Given the description of an element on the screen output the (x, y) to click on. 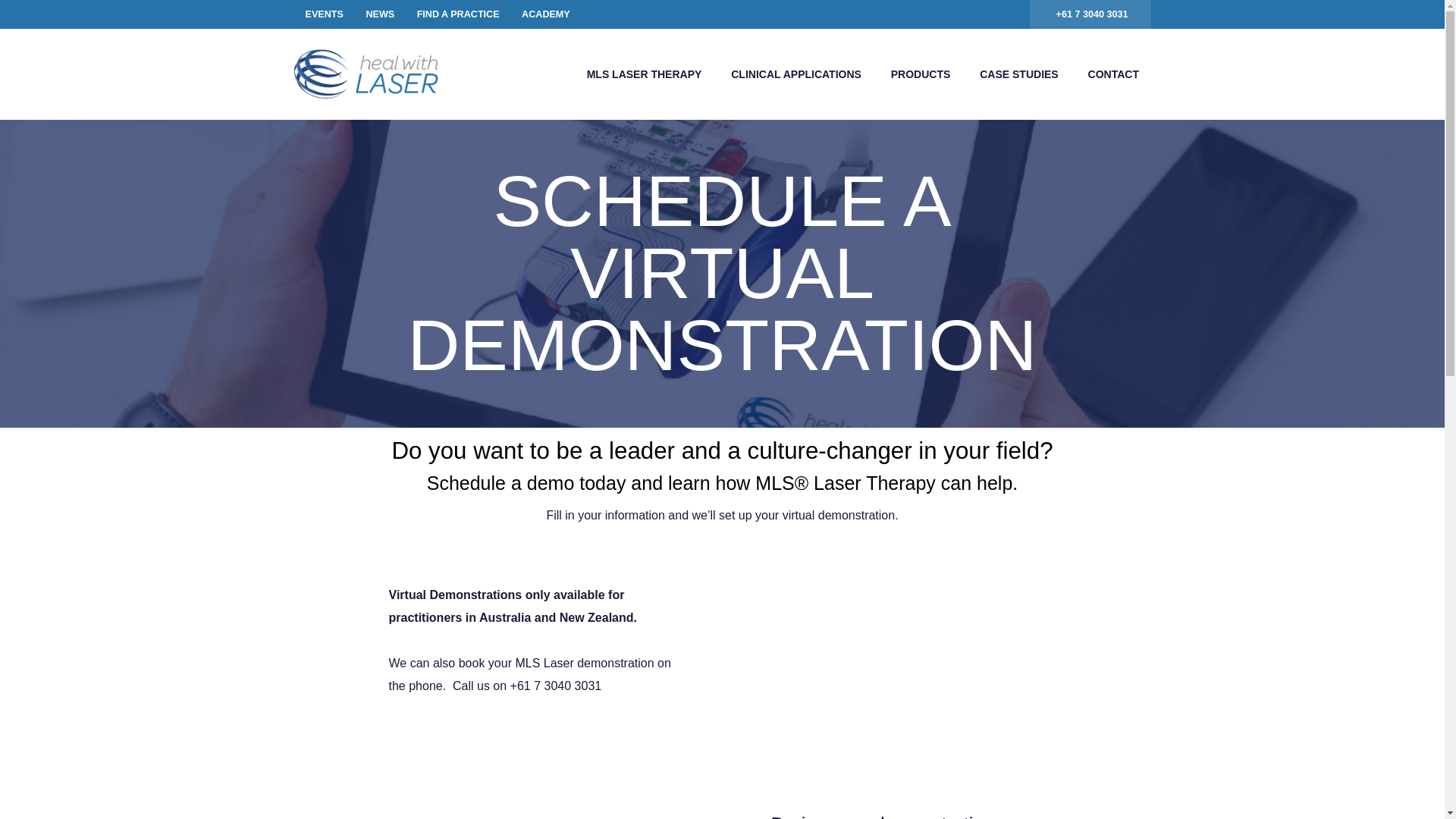
CASE STUDIES Element type: text (1019, 73)
+61 7 3040 3031 Element type: text (1090, 14)
PRODUCTS Element type: text (920, 73)
EVENTS Element type: text (324, 14)
ACADEMY Element type: text (545, 14)
NEWS Element type: text (379, 14)
CONTACT Element type: text (1113, 73)
MLS LASER THERAPY Element type: text (643, 73)
CLINICAL APPLICATIONS Element type: text (796, 73)
FIND A PRACTICE Element type: text (458, 14)
